Given the description of an element on the screen output the (x, y) to click on. 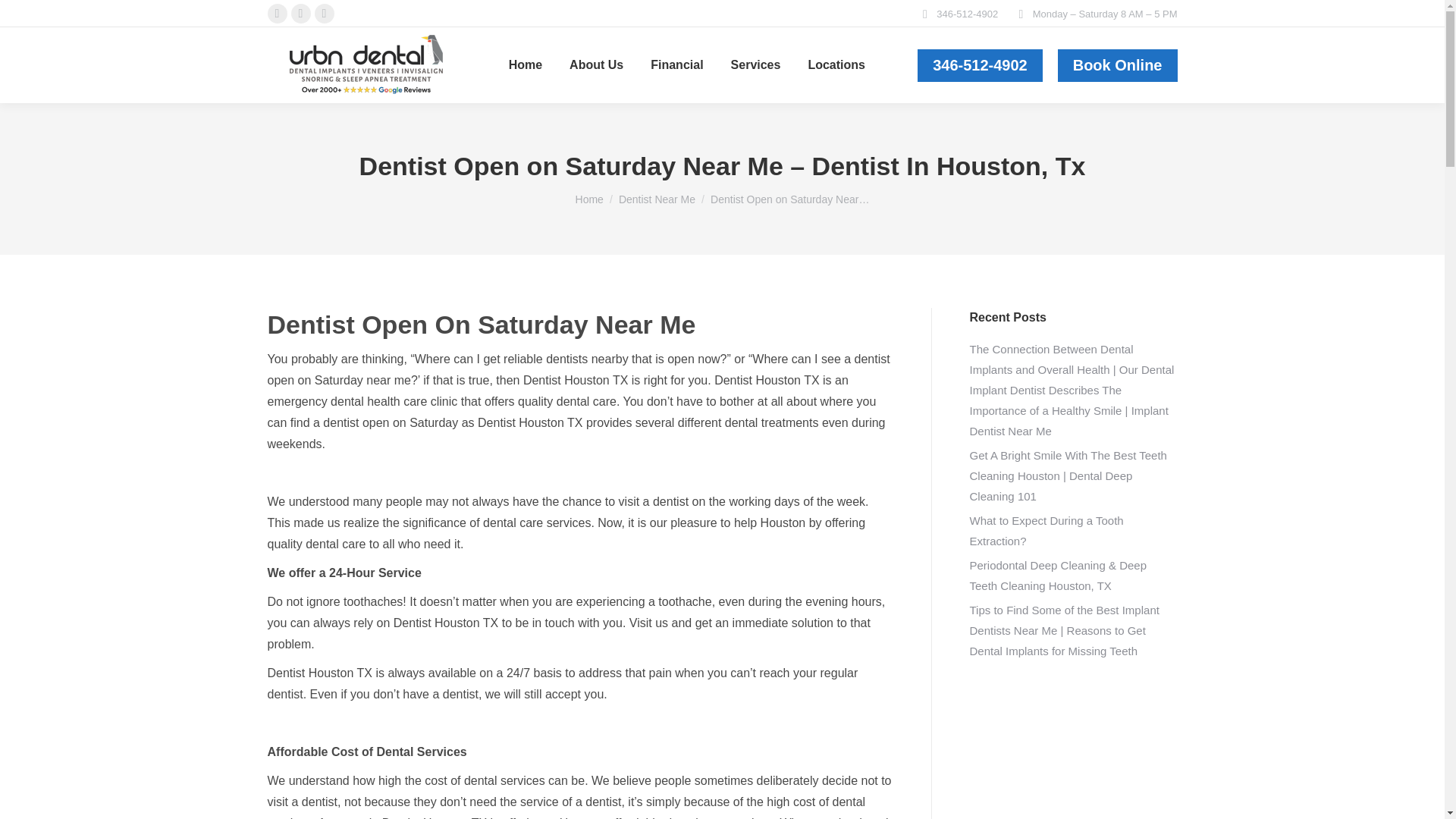
Dentist Near Me (656, 199)
346-512-4902 (979, 64)
Instagram page opens in new window (323, 13)
Facebook page opens in new window (276, 13)
Financial (676, 64)
About Us (596, 64)
X page opens in new window (301, 13)
346-512-4902 (979, 64)
Instagram page opens in new window (323, 13)
Book Online (1117, 64)
